Given the description of an element on the screen output the (x, y) to click on. 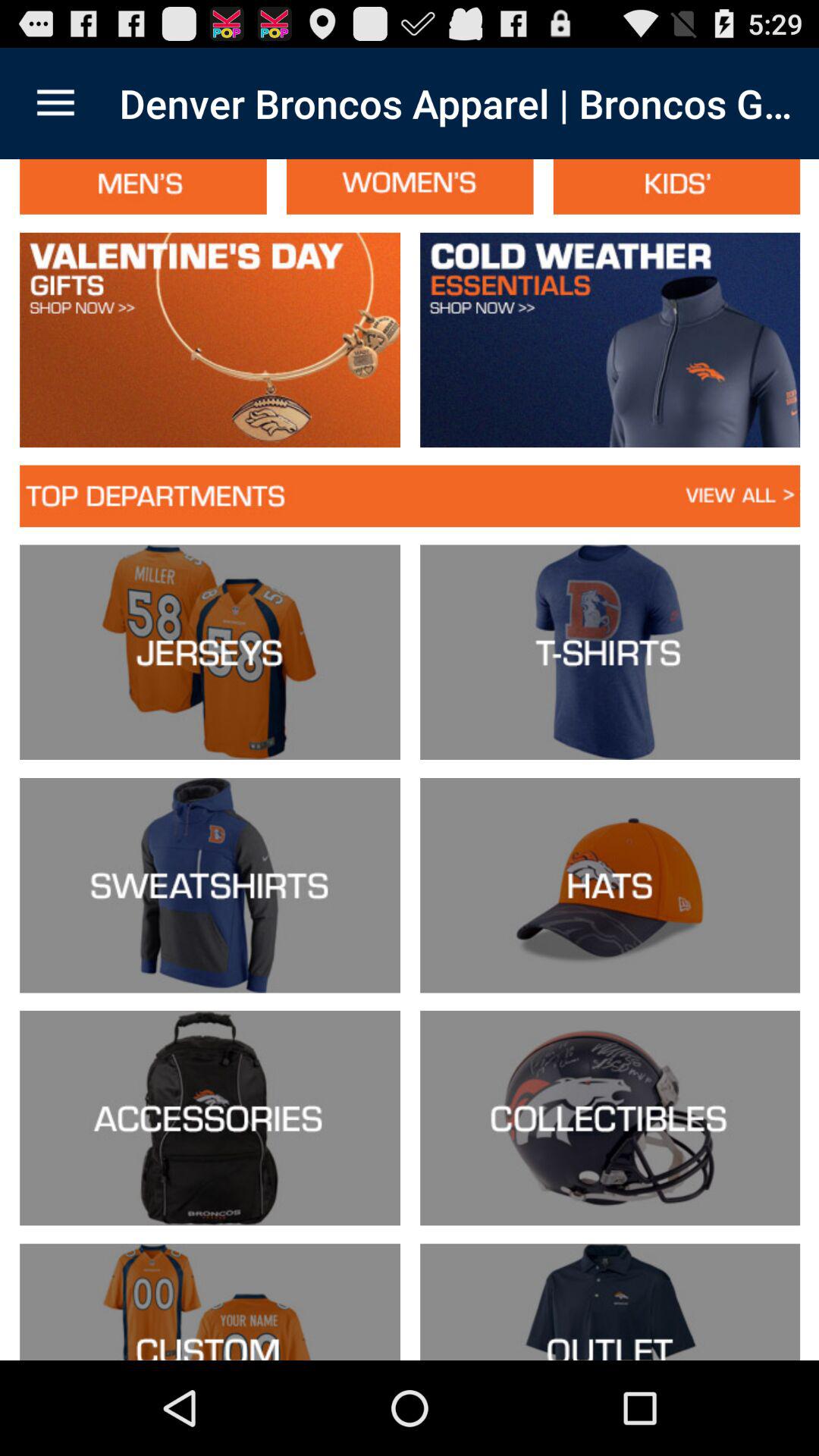
turn off item next to denver broncos apparel item (55, 103)
